Given the description of an element on the screen output the (x, y) to click on. 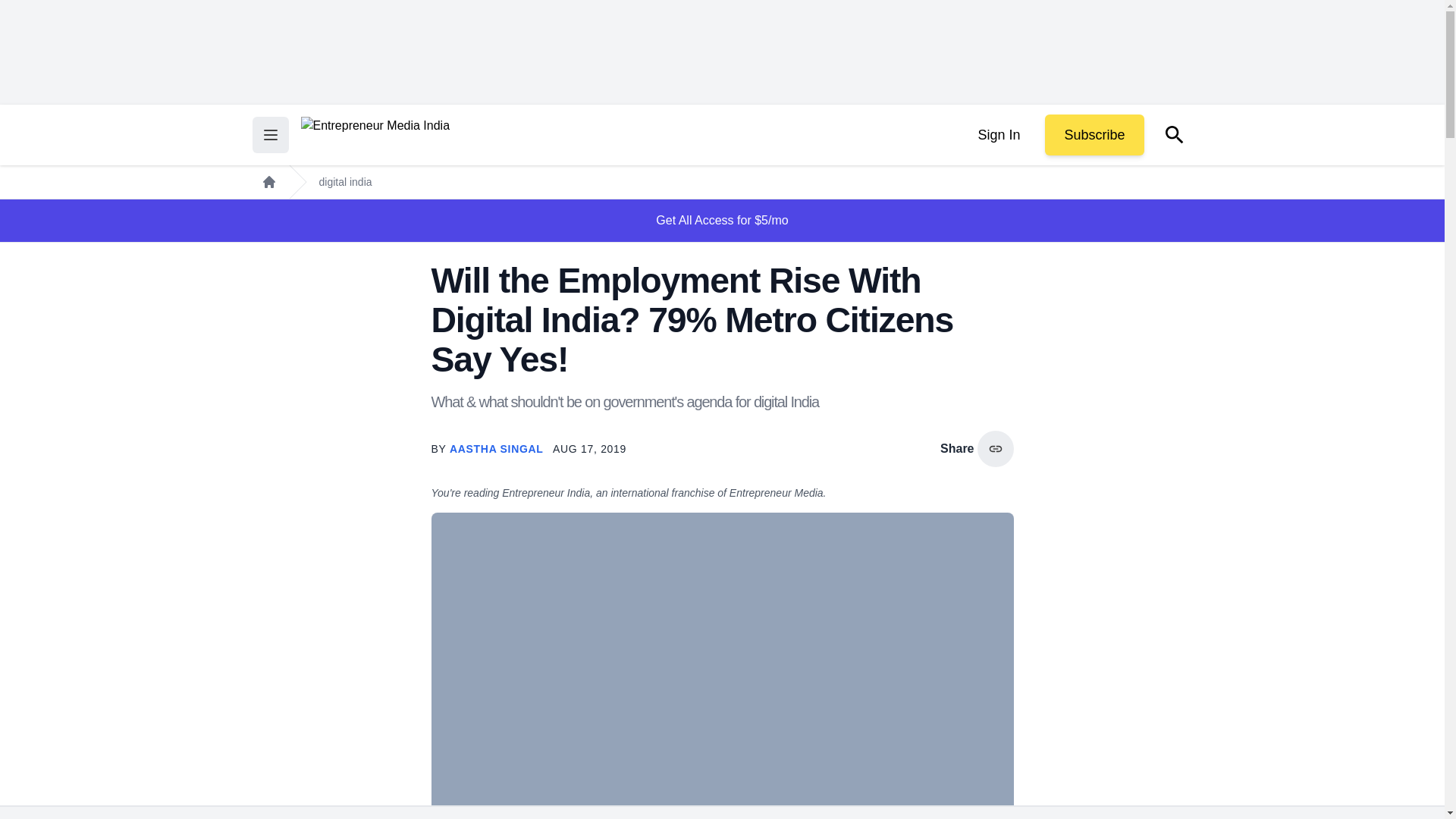
Return to the home page (374, 135)
Sign In (998, 134)
Subscribe (1093, 134)
copy (994, 448)
